Given the description of an element on the screen output the (x, y) to click on. 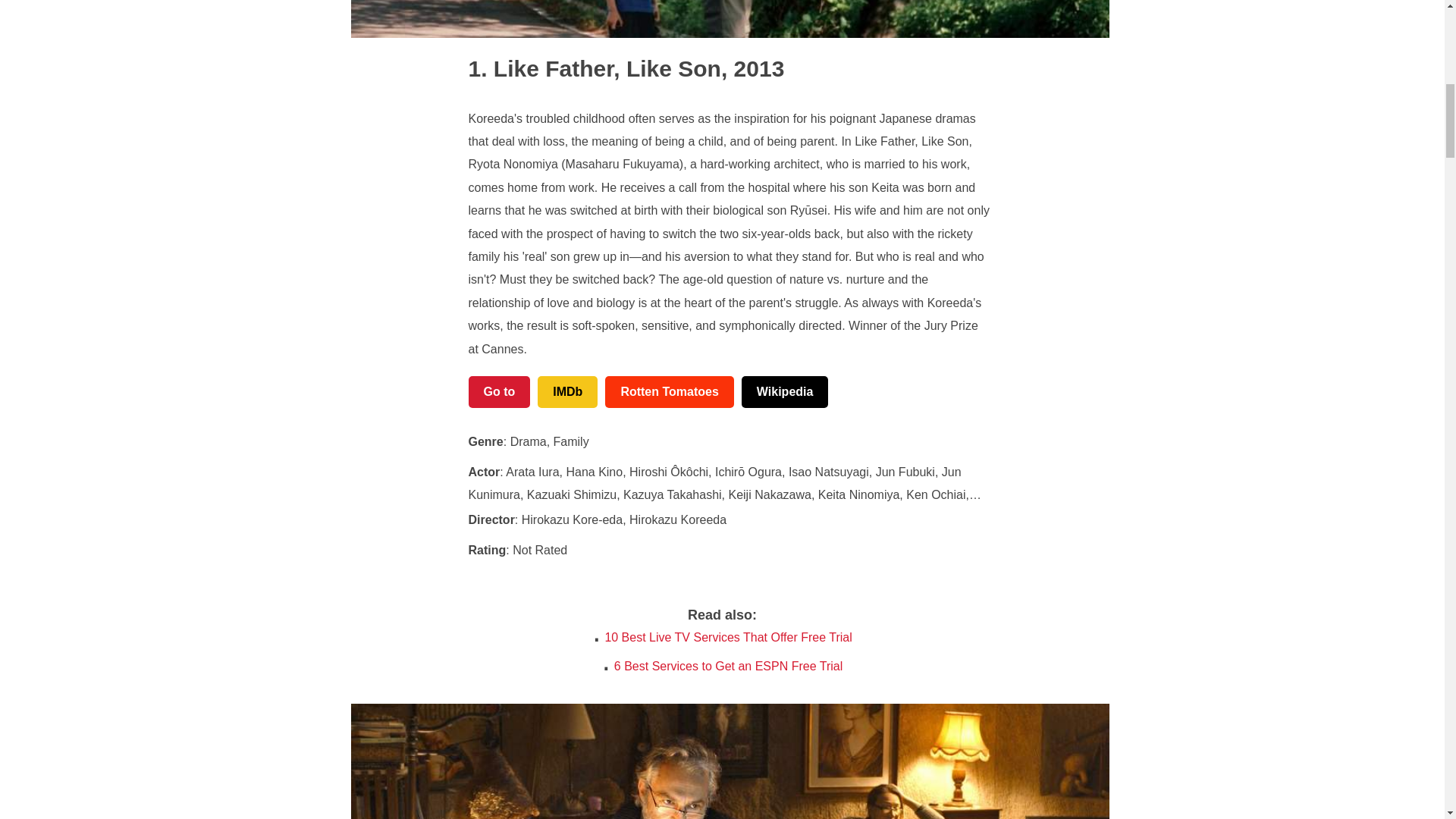
Like Father, Like Son (594, 68)
